Given the description of an element on the screen output the (x, y) to click on. 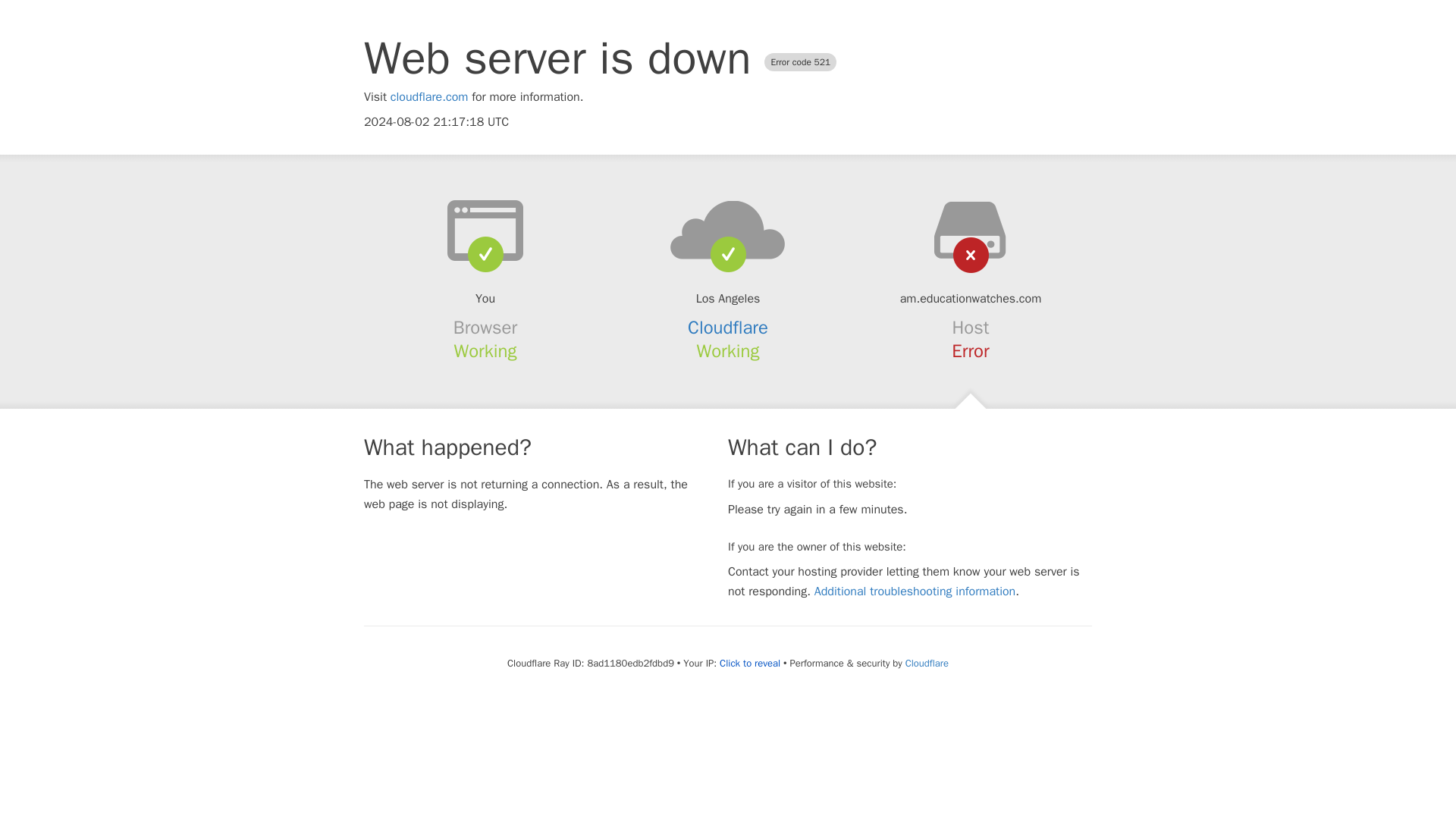
Additional troubleshooting information (913, 590)
cloudflare.com (429, 96)
Cloudflare (727, 327)
Click to reveal (749, 663)
Cloudflare (927, 662)
